Given the description of an element on the screen output the (x, y) to click on. 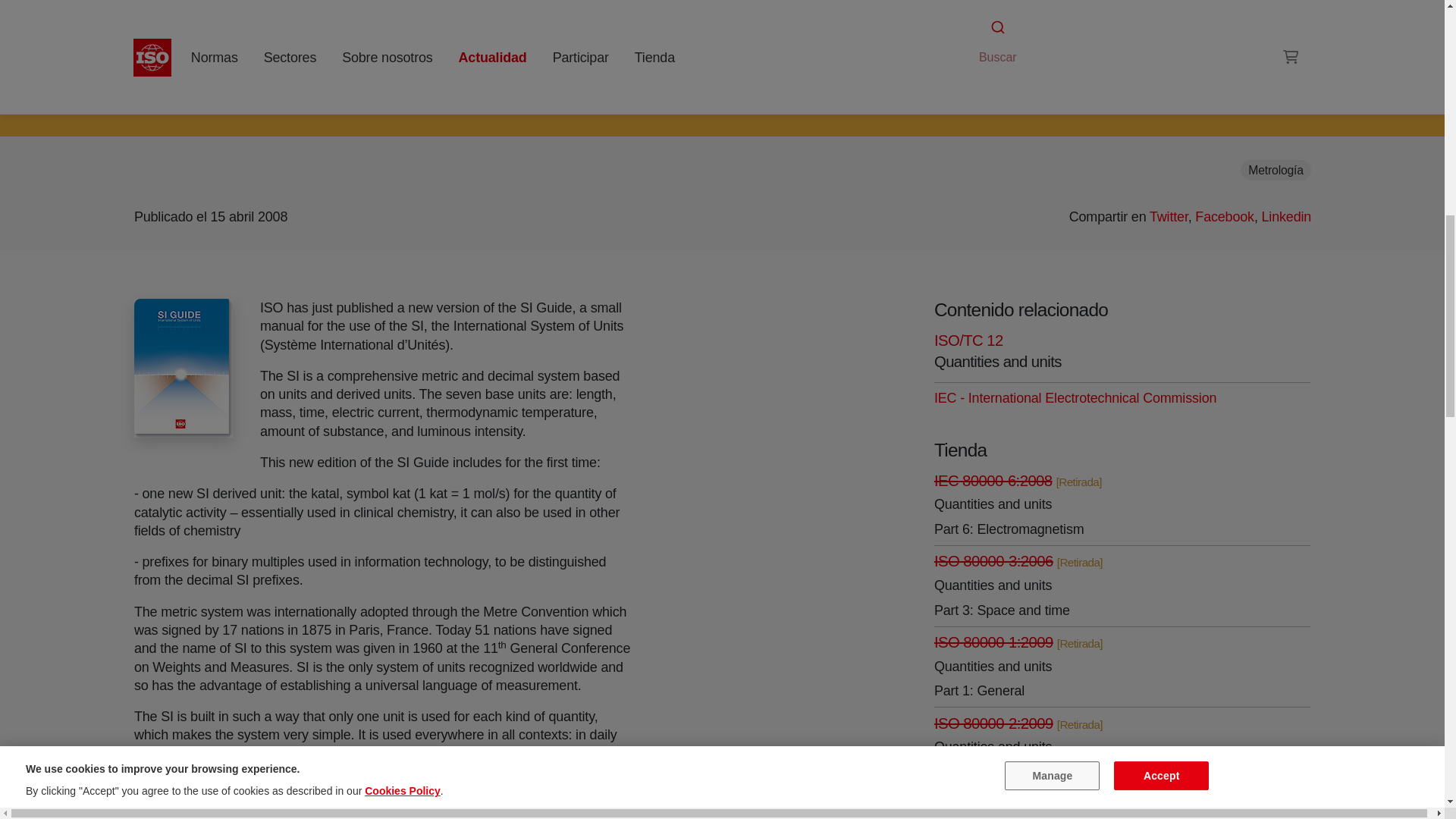
ISO 80000-3:2006 (993, 560)
Facebook (1224, 216)
IEC 80000-6:2008 (993, 480)
ISO 80000-1:2009 (993, 641)
Compartir en Facebook (1224, 216)
Compartir en Linkedin (1285, 216)
Linkedin (1285, 216)
Twitter (1168, 216)
IEC - International Electrotechnical Commission (1074, 397)
ISO 80000-2:2009 (993, 723)
Compartir en Twitter (1168, 216)
